Given the description of an element on the screen output the (x, y) to click on. 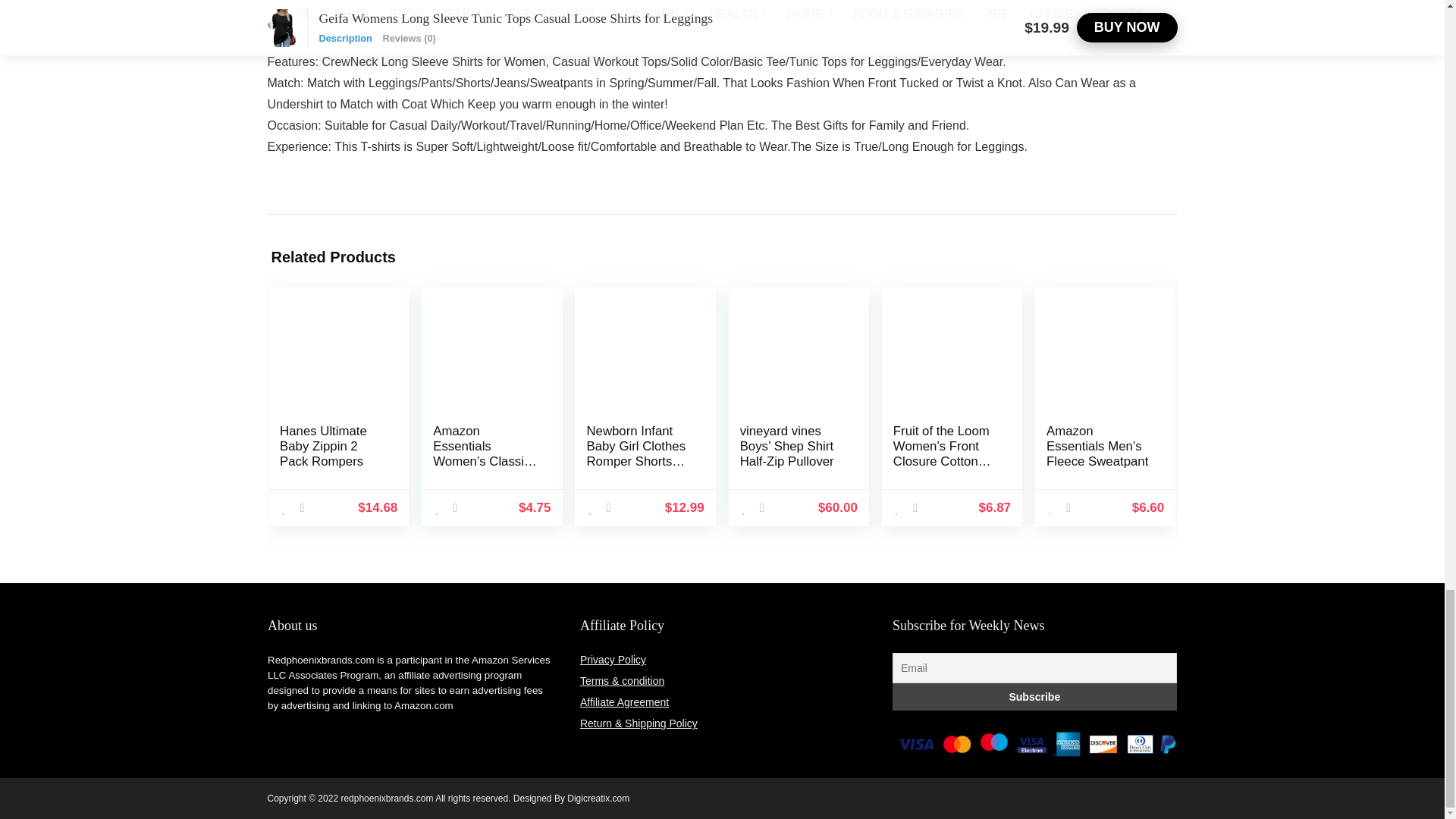
Subscribe (1034, 696)
